Given the description of an element on the screen output the (x, y) to click on. 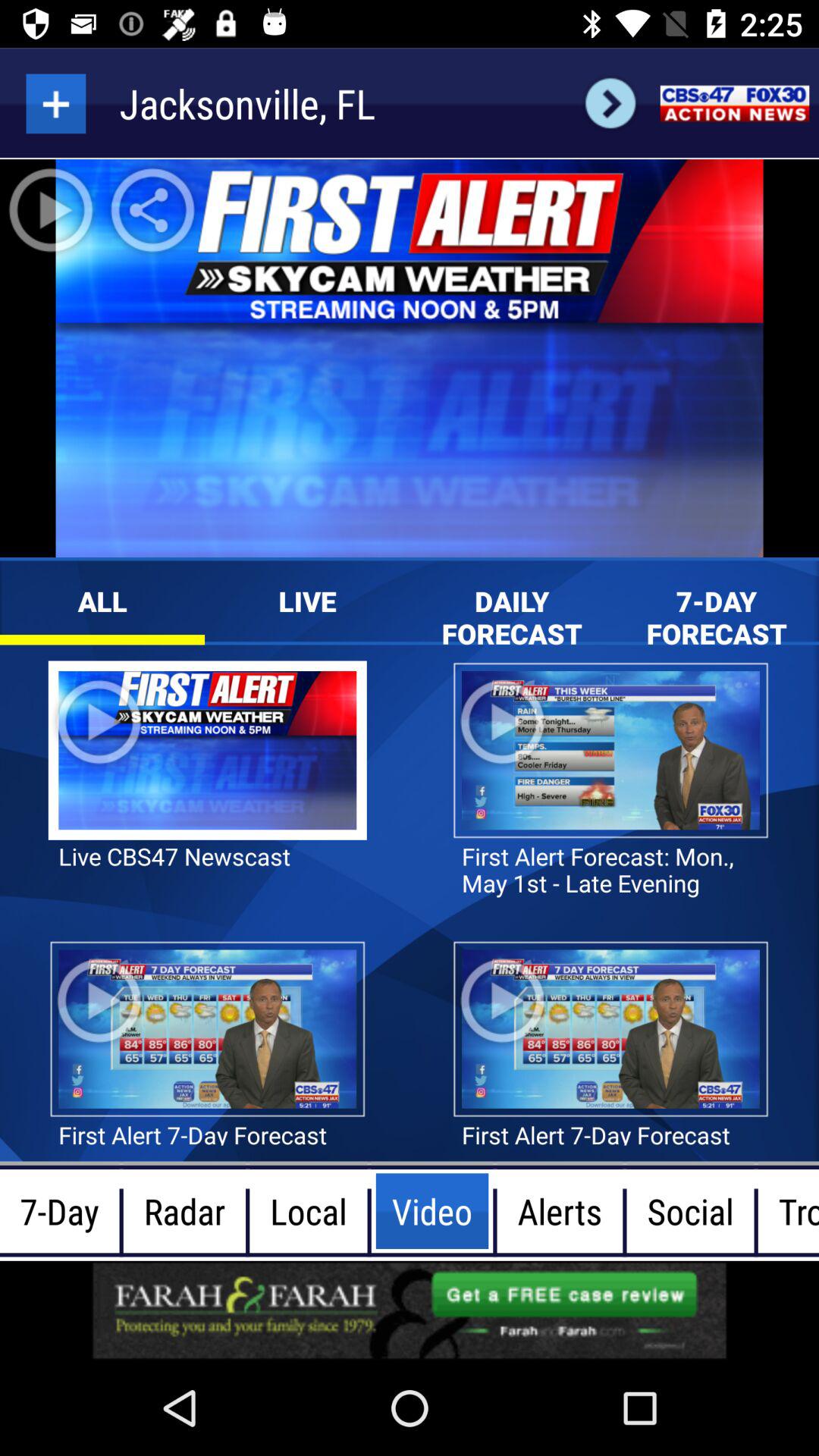
go to news (734, 103)
